Given the description of an element on the screen output the (x, y) to click on. 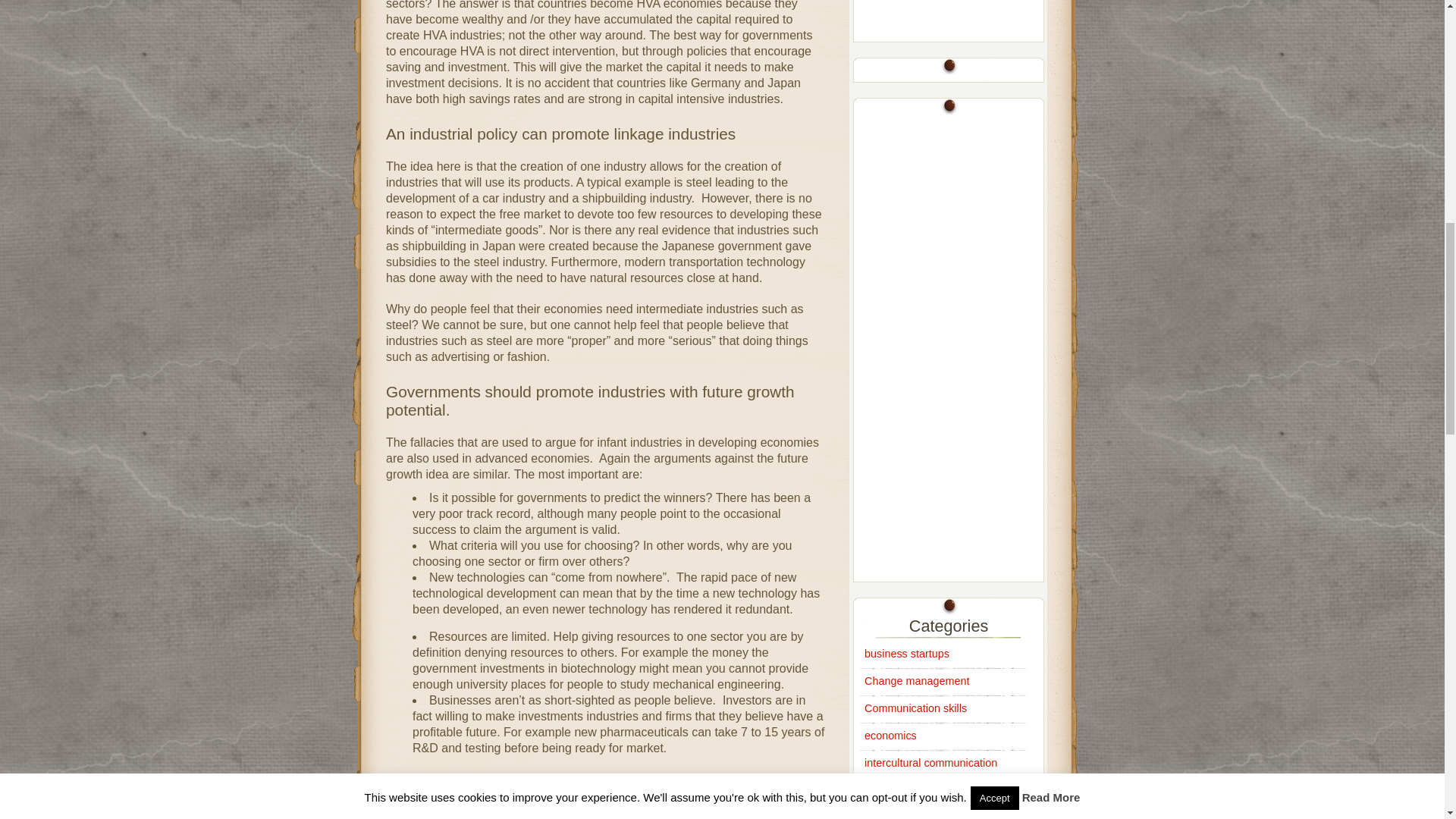
Communication skills (915, 707)
Intercultural management (926, 789)
Change management (916, 680)
intercultural communication (930, 762)
international economics (921, 815)
economics (890, 735)
business startups (906, 653)
